Given the description of an element on the screen output the (x, y) to click on. 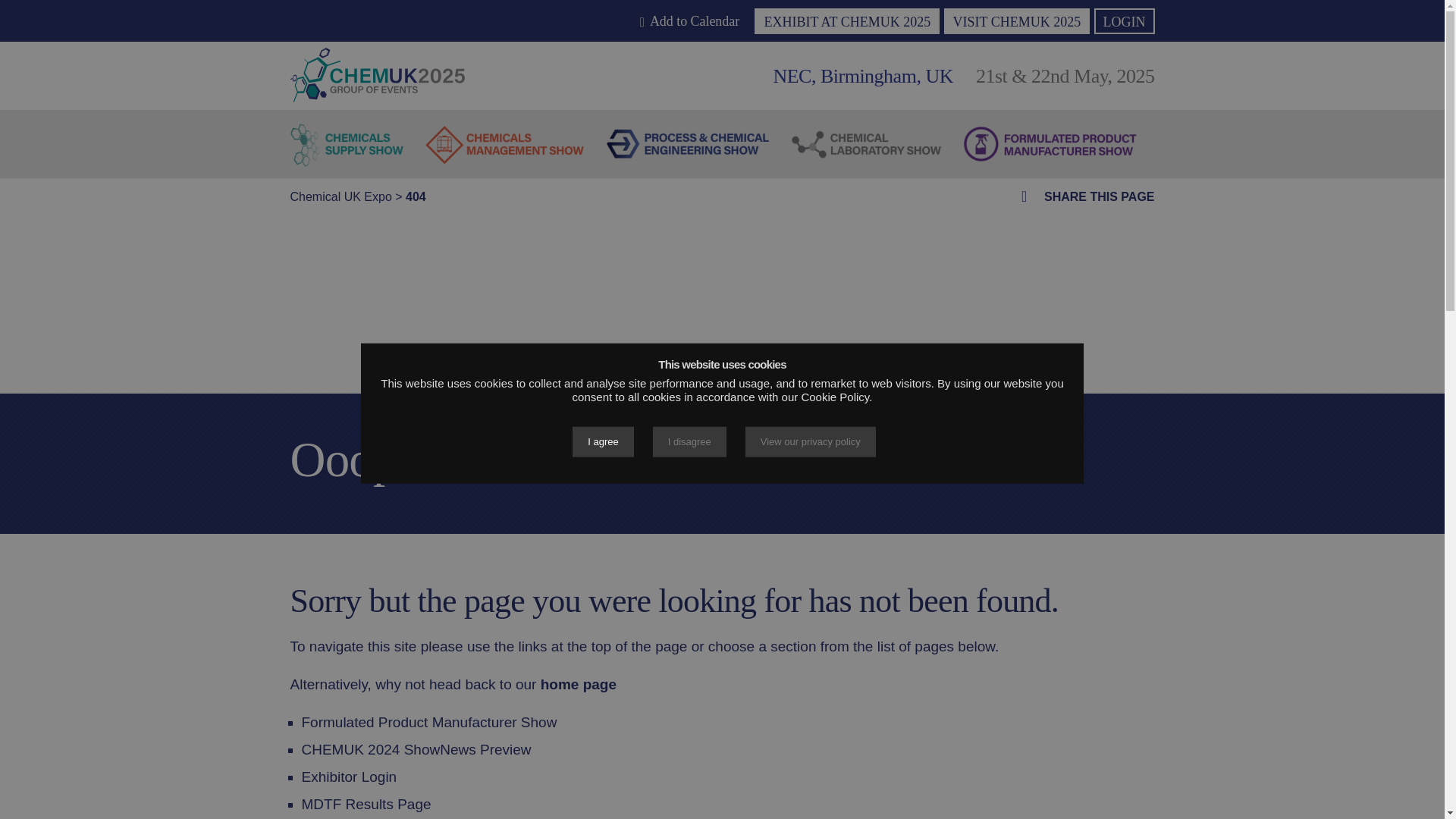
Exhibitors (417, 55)
VISIT CHEMUK 2025 (1016, 21)
EXHIBIT AT CHEMUK 2025 (846, 21)
Speakers (490, 55)
Add to Calendar (689, 21)
Interviews (635, 55)
LOGIN (1123, 21)
Partners (562, 55)
CHEMUK (376, 74)
